Given the description of an element on the screen output the (x, y) to click on. 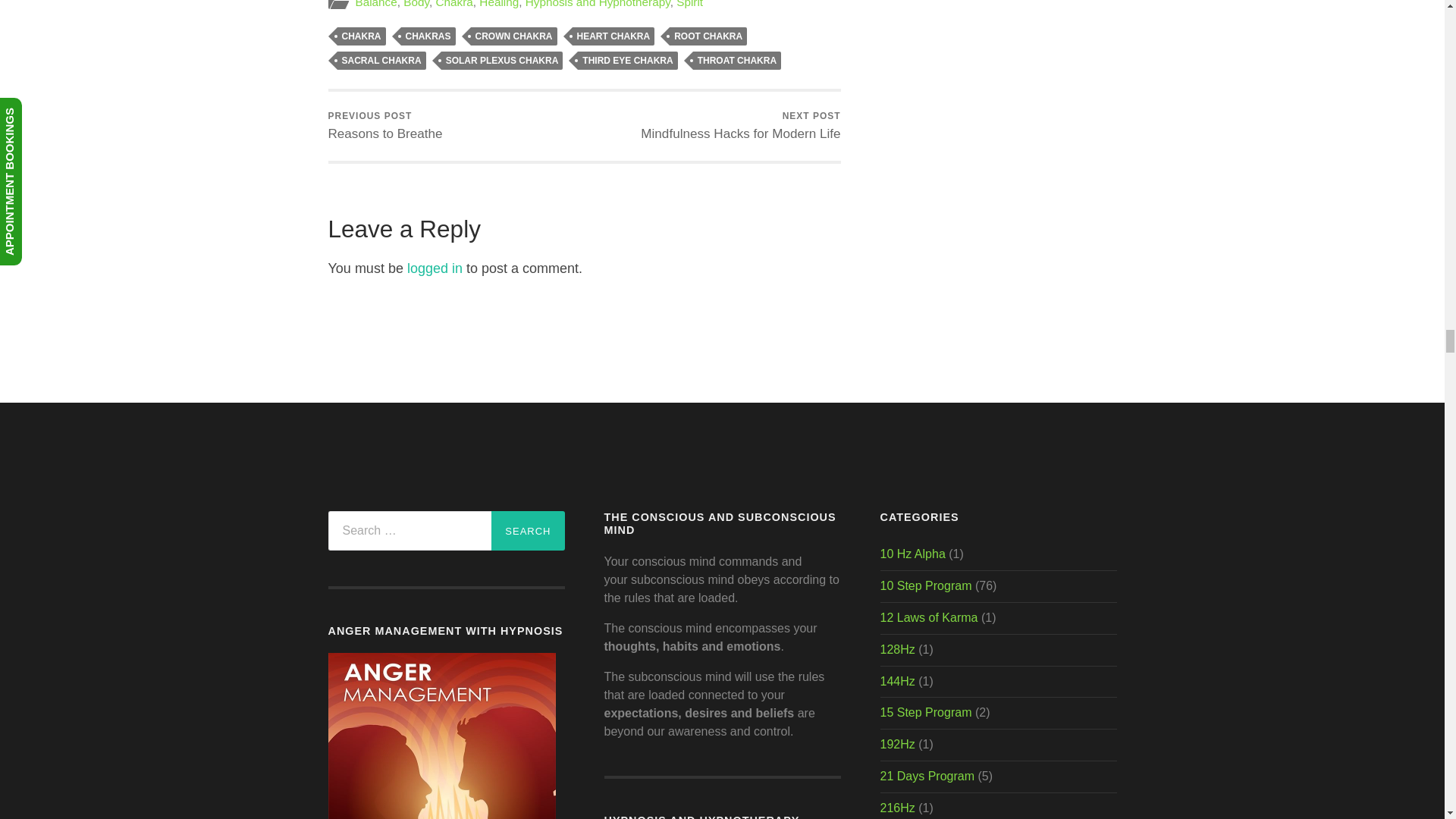
Search (528, 530)
Click Here! Anger Management with Hypnosis (440, 817)
Search (528, 530)
